Given the description of an element on the screen output the (x, y) to click on. 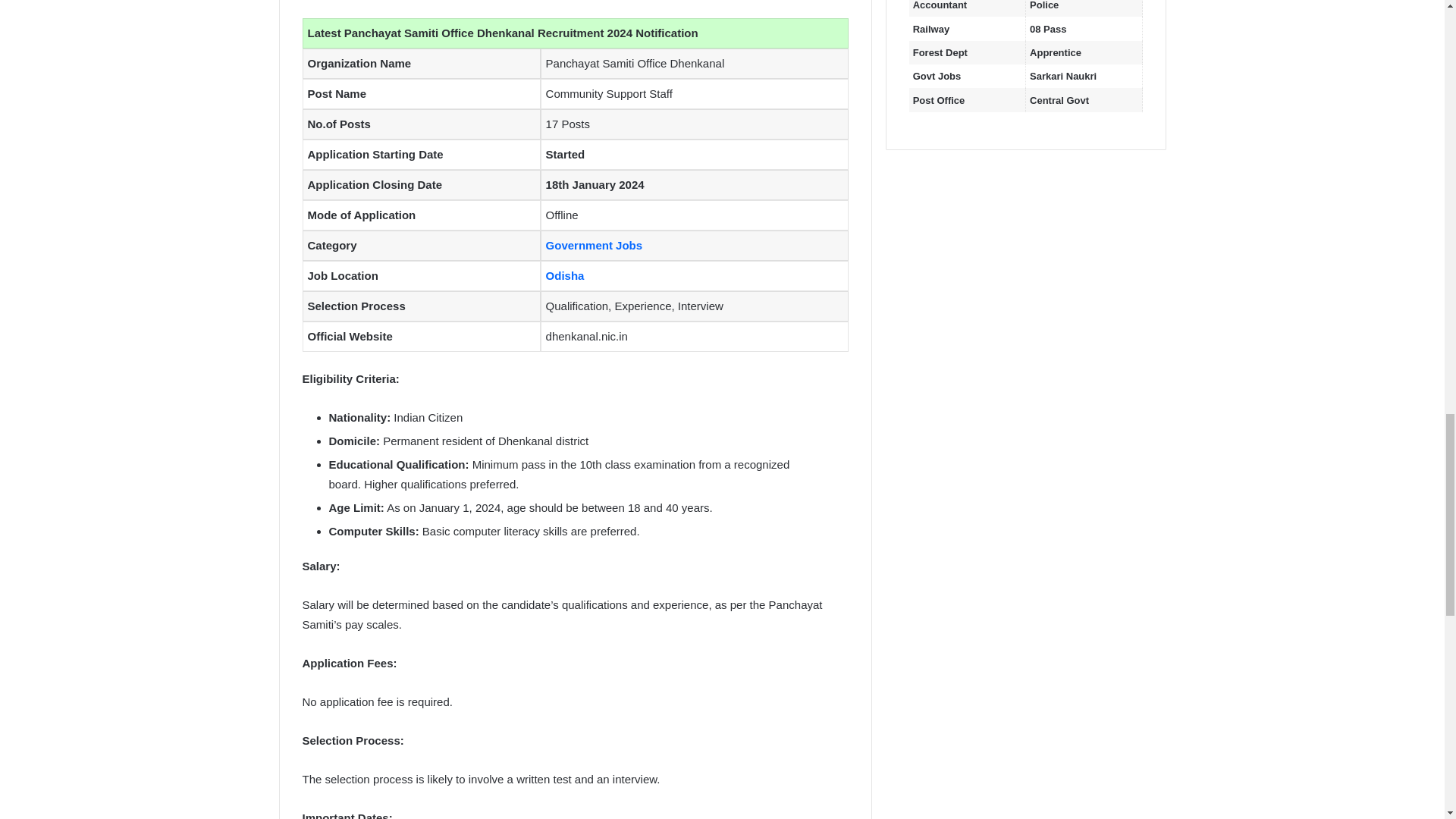
Odisha (565, 275)
Government Jobs (594, 245)
